Given the description of an element on the screen output the (x, y) to click on. 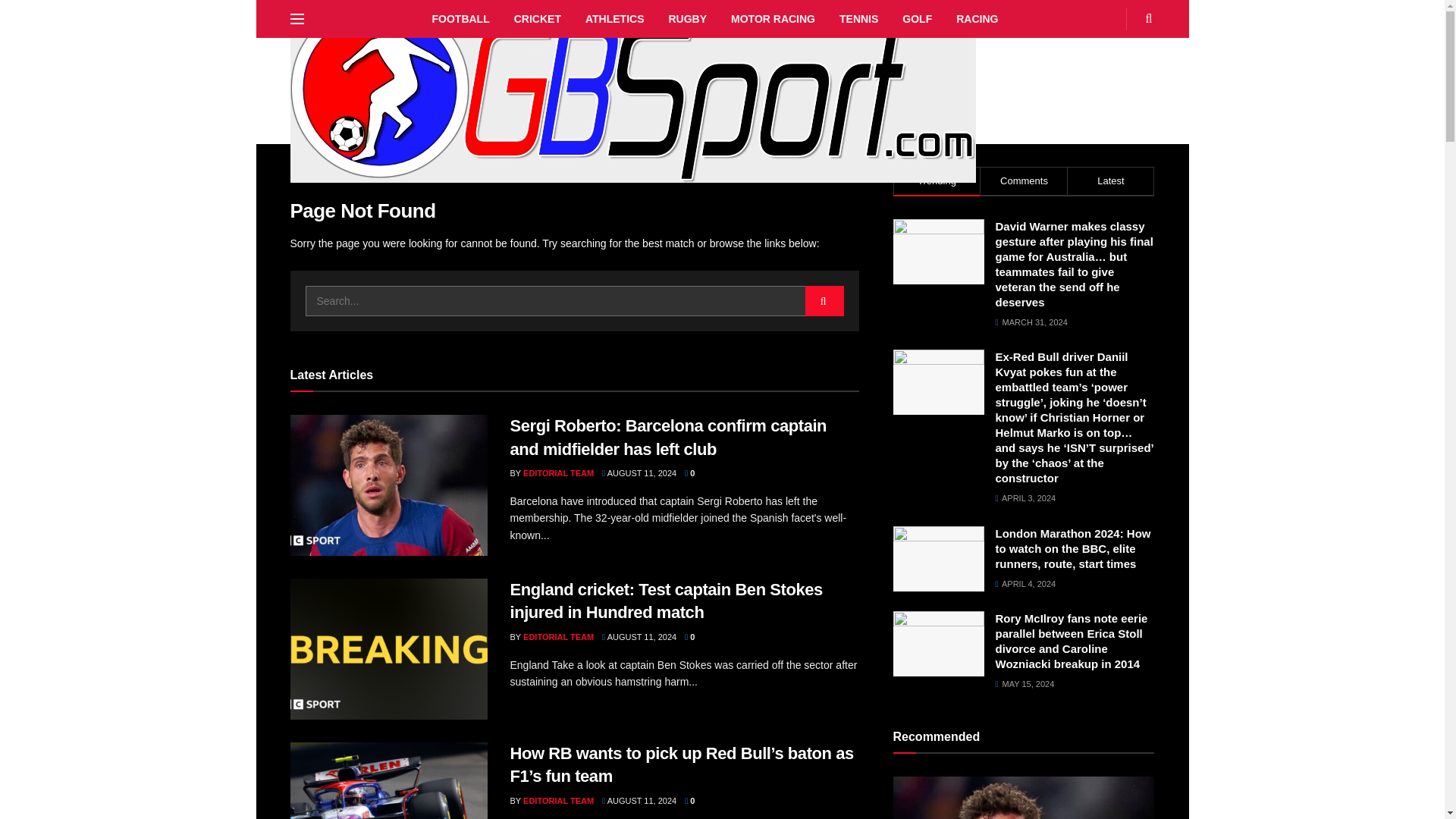
GOLF (916, 18)
MOTOR RACING (773, 18)
AUGUST 11, 2024 (639, 472)
EDITORIAL TEAM (558, 472)
ATHLETICS (614, 18)
0 (689, 472)
RACING (976, 18)
AUGUST 11, 2024 (639, 636)
